Given the description of an element on the screen output the (x, y) to click on. 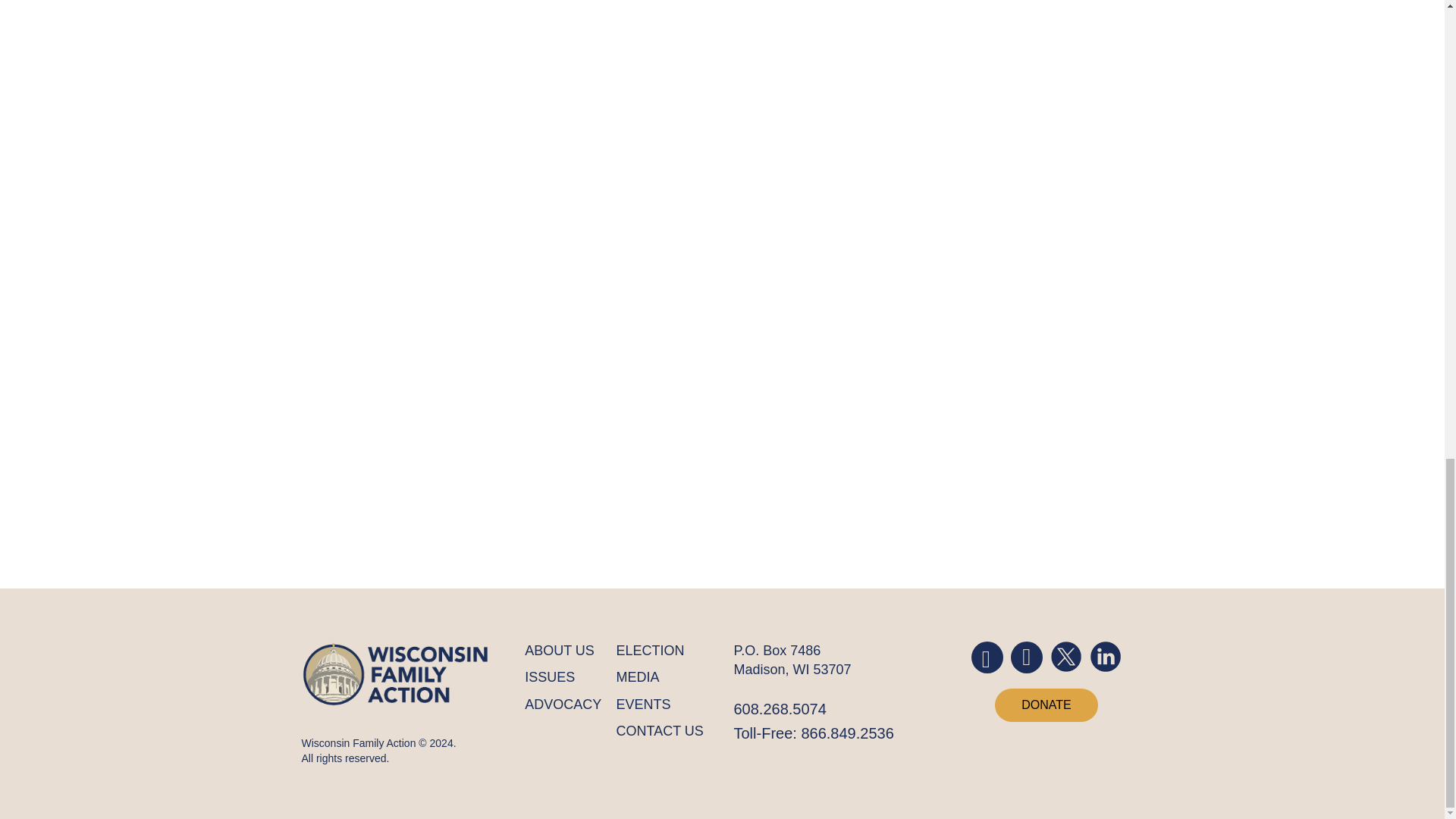
608.268.5074 (780, 709)
About Us (562, 650)
ABOUT US (562, 650)
DONATE (1045, 704)
866.849.2536 (846, 733)
MEDIA (659, 677)
EVENTS (659, 704)
CONTACT US (659, 731)
ADVOCACY (562, 704)
ISSUES (562, 677)
